Given the description of an element on the screen output the (x, y) to click on. 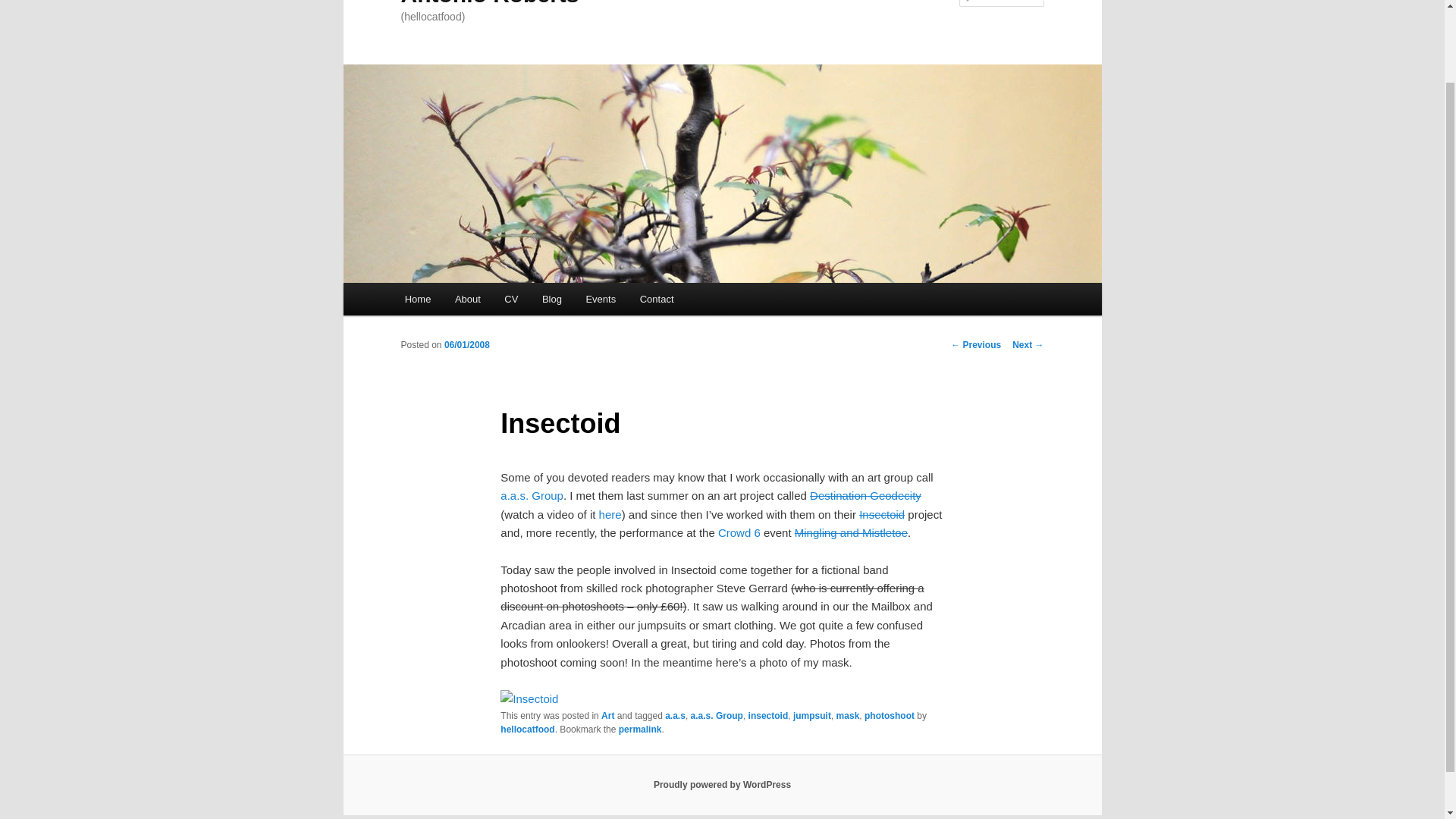
a.a.s. Group (531, 495)
Events (600, 298)
Mingling and Mistletoe (850, 532)
jumpsuit (812, 715)
Insectoid (881, 513)
a.a.s. Group (716, 715)
here (609, 513)
Semantic Personal Publishing Platform (721, 784)
a.a.s (675, 715)
Blog (551, 298)
Destination Geodecity (865, 495)
Permalink to Insectoid (640, 728)
Antonio Roberts (489, 3)
Crowd 6 (738, 532)
Home (417, 298)
